Given the description of an element on the screen output the (x, y) to click on. 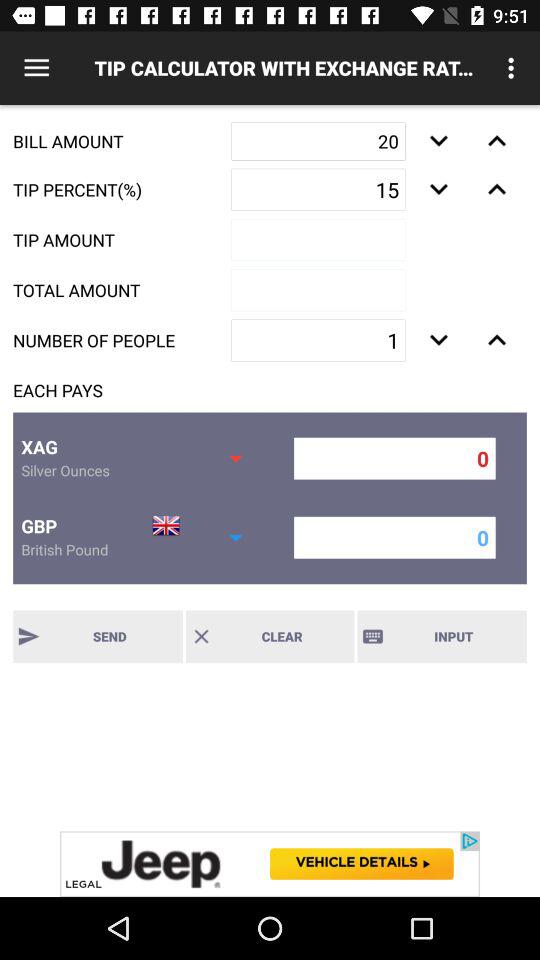
tip percent (496, 189)
